Given the description of an element on the screen output the (x, y) to click on. 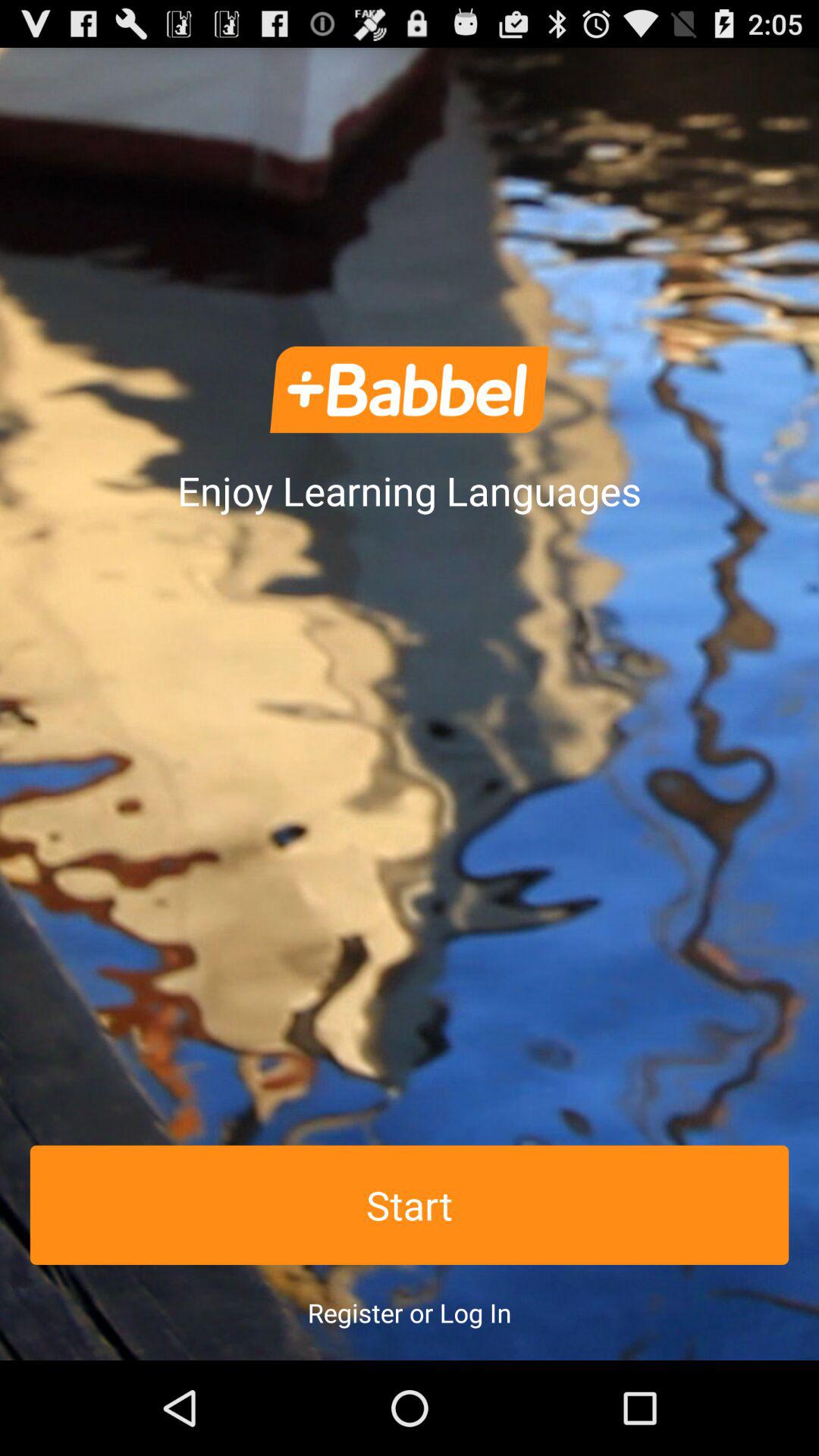
click register or log item (409, 1312)
